Given the description of an element on the screen output the (x, y) to click on. 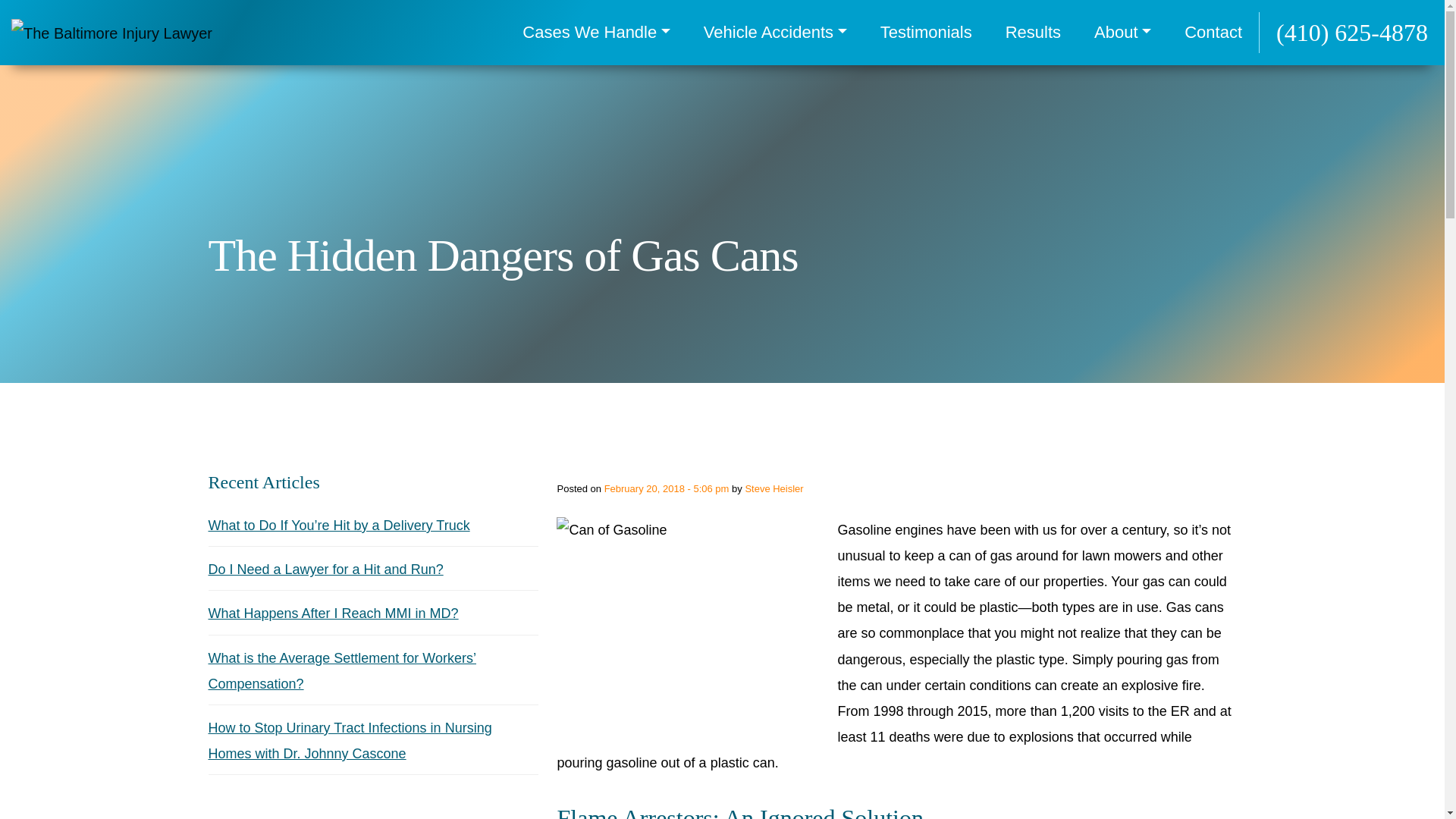
Contact (1213, 32)
Cases We Handle (596, 32)
About (1122, 32)
Vehicle Accidents (775, 32)
Vehicle Accidents (775, 32)
The Baltimore Injury Lawyer (111, 32)
February 20, 2018 - 5:06 pm (666, 488)
Testimonials (925, 32)
About (1122, 32)
Results (1032, 32)
